Given the description of an element on the screen output the (x, y) to click on. 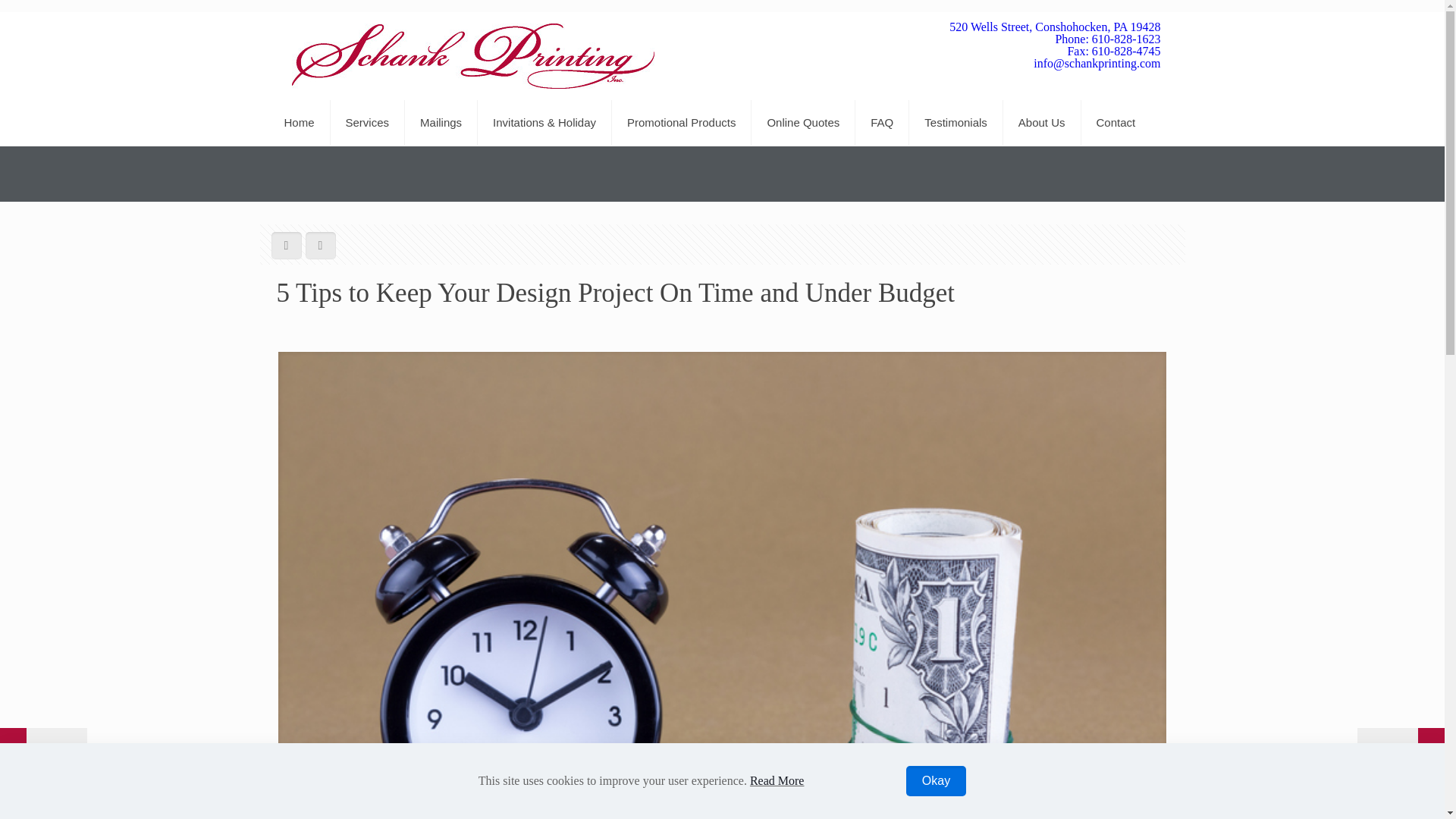
Promotional Products (681, 122)
Home (298, 122)
Schank Printing (472, 55)
FAQ (882, 122)
Services (368, 122)
Testimonials (955, 122)
About Us (1042, 122)
Contact (1116, 122)
Mailings (440, 122)
Online Quotes (803, 122)
